Given the description of an element on the screen output the (x, y) to click on. 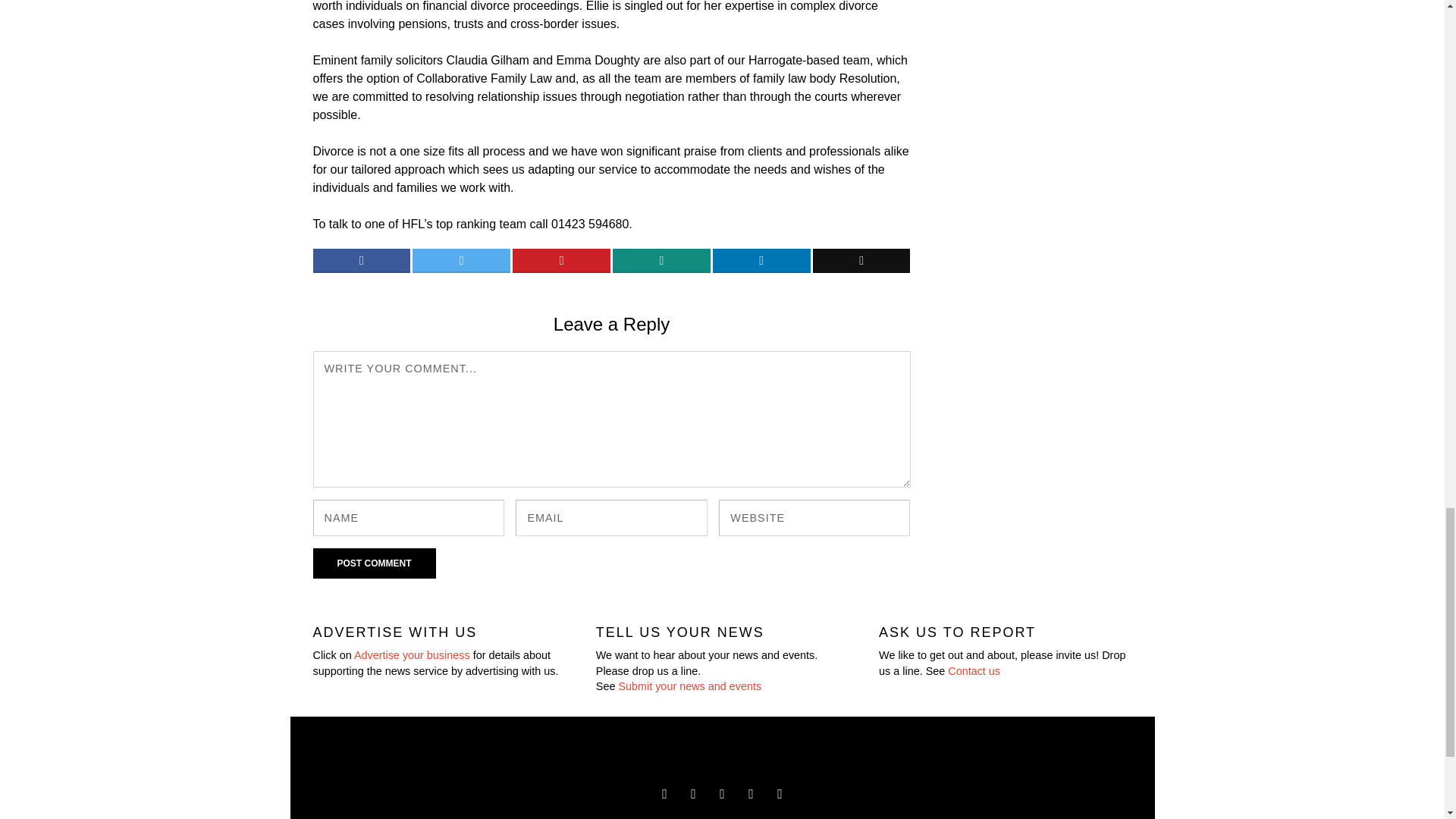
Advertise your business (411, 654)
Submit your news and events (689, 686)
Post Comment (374, 562)
Post Comment (374, 562)
Contact us (973, 671)
